Given the description of an element on the screen output the (x, y) to click on. 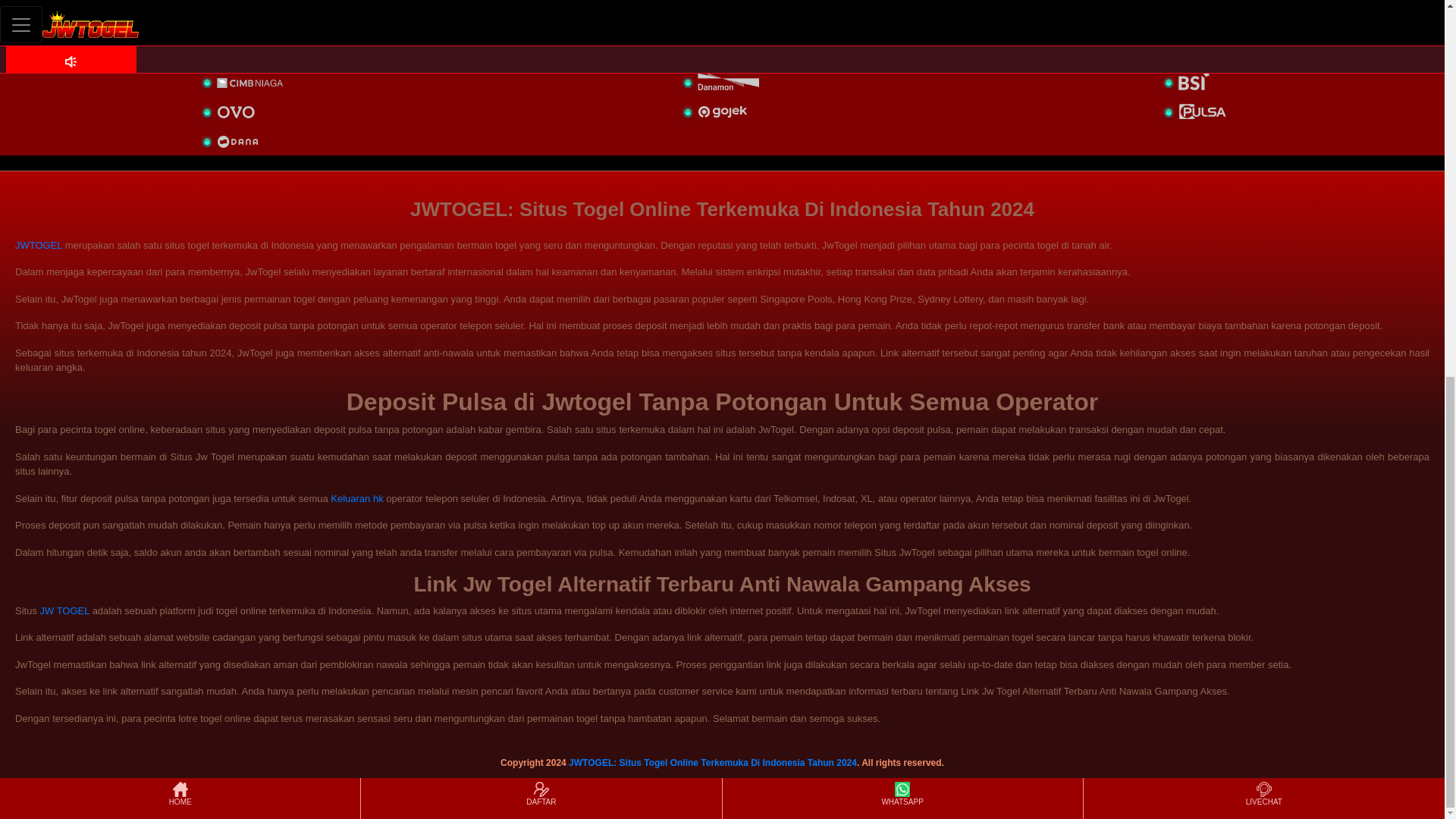
DAFTAR (540, 103)
JWTOGEL (38, 244)
Keluaran hk (356, 498)
WHATSAPP (901, 103)
JW TOGEL (65, 610)
LIVECHAT (1263, 103)
HOME (179, 103)
